Given the description of an element on the screen output the (x, y) to click on. 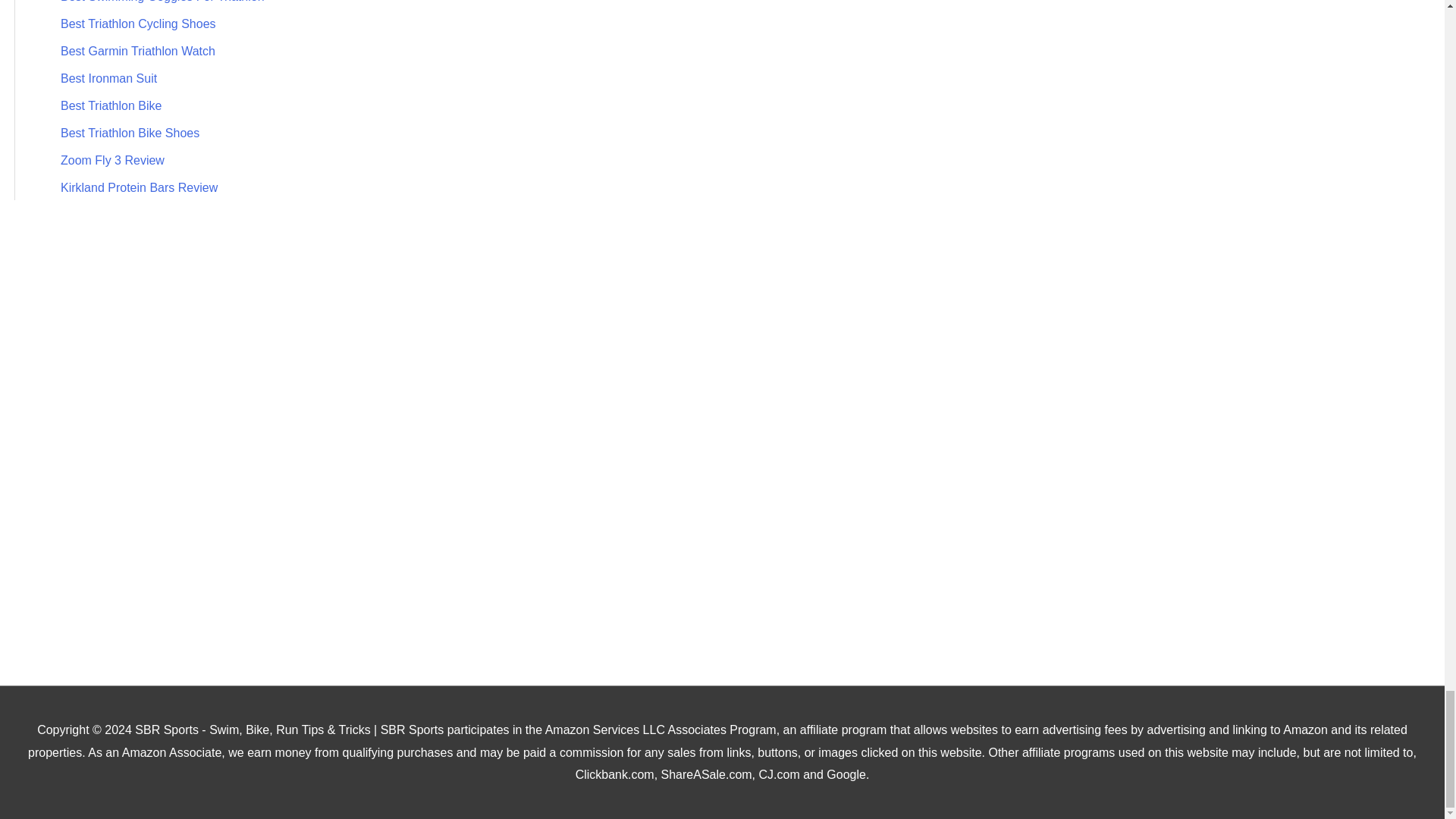
Best Ironman Suit (109, 78)
Best Garmin Triathlon Watch (138, 51)
Best Triathlon Cycling Shoes (138, 23)
Best Swimming Goggles For Triathlon (162, 1)
Zoom Fly 3 Review (112, 160)
Best Triathlon Bike Shoes (130, 132)
Best Triathlon Bike (111, 105)
Kirkland Protein Bars Review (138, 187)
